Given the description of an element on the screen output the (x, y) to click on. 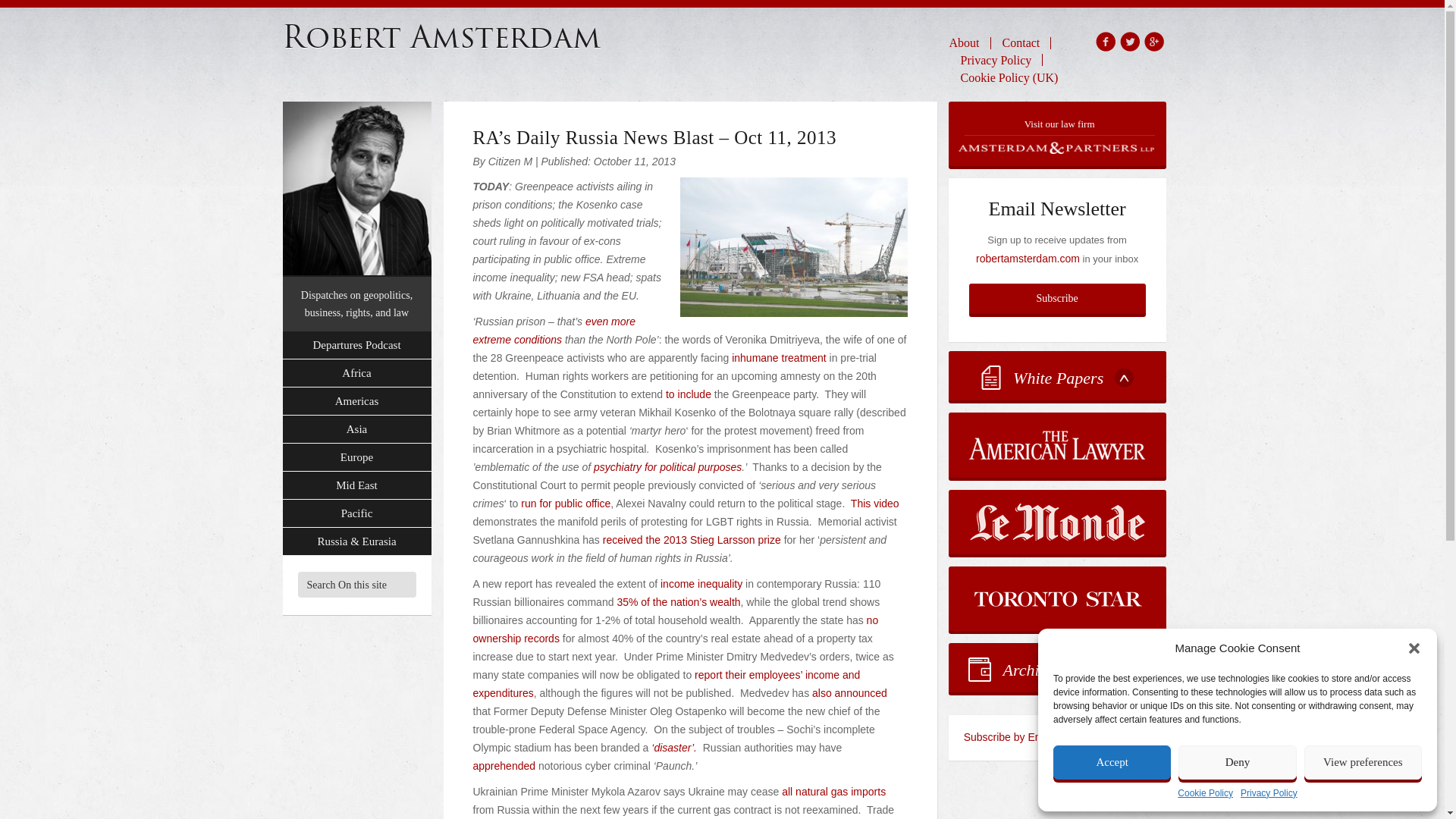
income inequality (701, 583)
Mid East (356, 485)
psychiatry for political purposes (667, 467)
View preferences (1363, 762)
About (970, 42)
Pacific (356, 513)
Privacy Policy (1268, 793)
received the 2013 Stieg Larsson prize (691, 539)
Departures Podcast (356, 345)
even more extreme conditions (554, 330)
run for public office (565, 503)
Americas (356, 401)
This video (874, 503)
Deny (1236, 762)
Privacy Policy (996, 59)
